Given the description of an element on the screen output the (x, y) to click on. 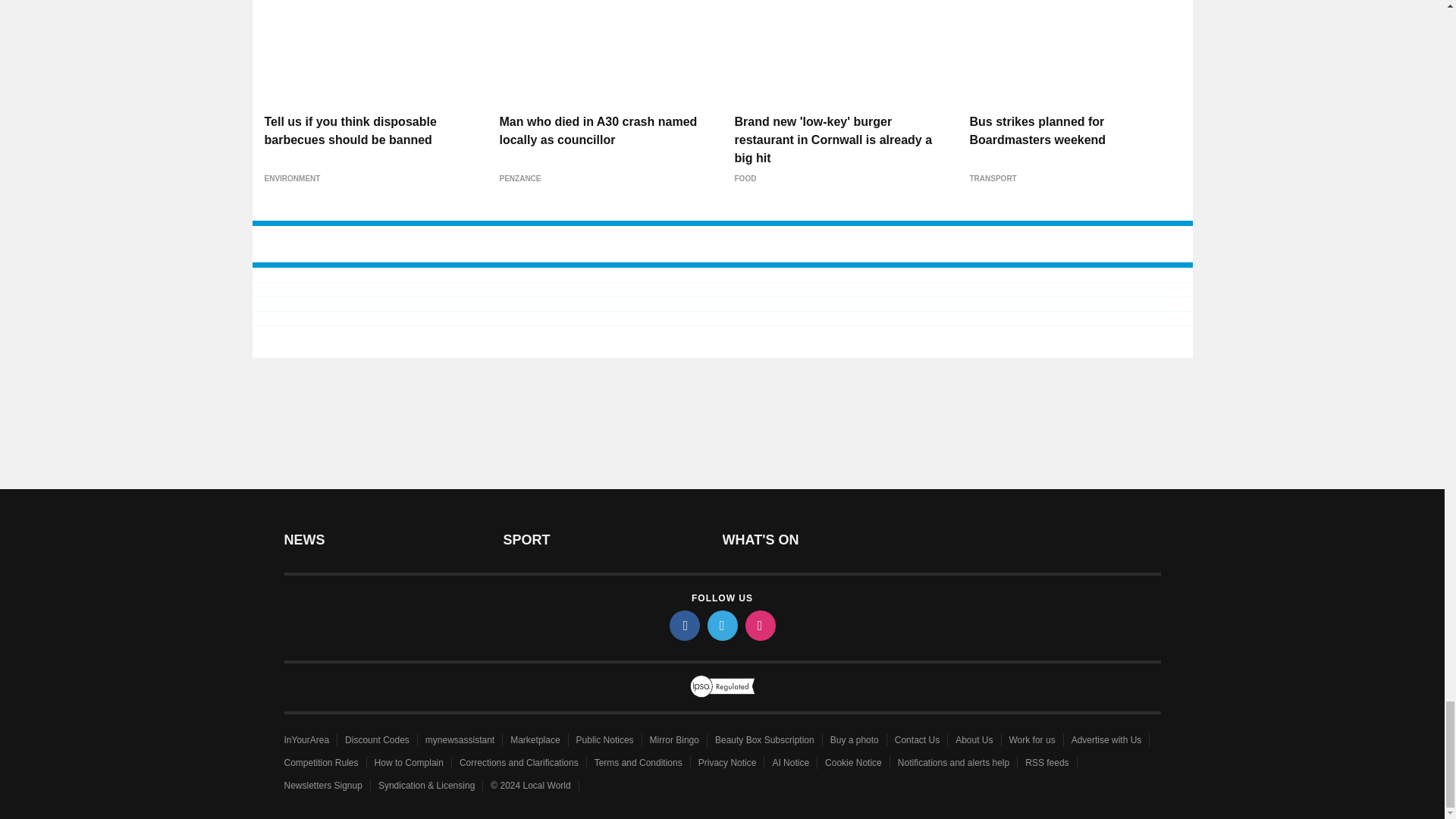
instagram (759, 625)
facebook (683, 625)
twitter (721, 625)
